Given the description of an element on the screen output the (x, y) to click on. 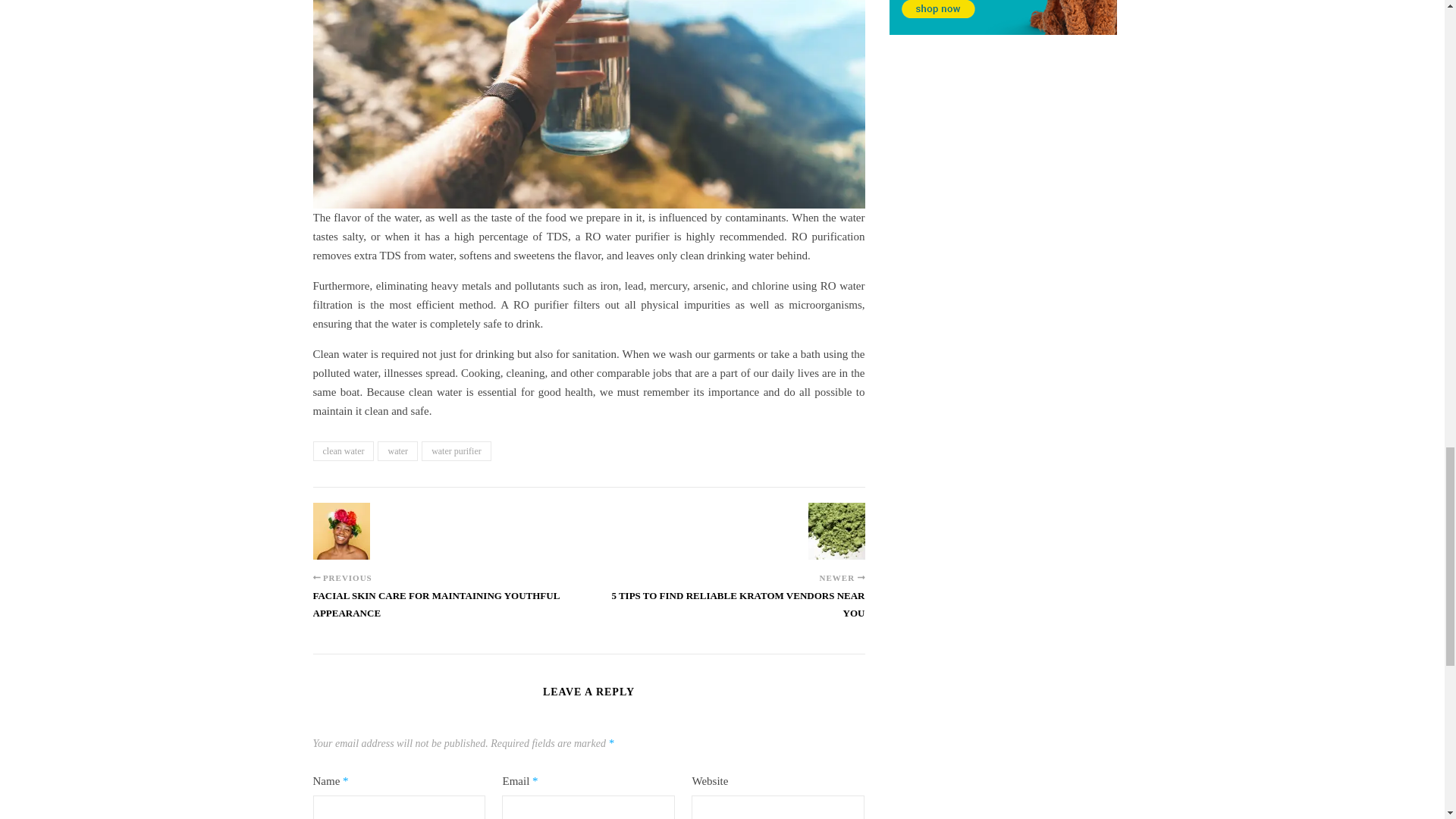
FACIAL SKIN CARE FOR MAINTAINING YOUTHFUL APPEARANCE (450, 612)
water purifier (457, 451)
Facial Skin Care For Maintaining Youthful Appearance (341, 530)
5 Tips To Find Reliable Kratom Vendors Near You (726, 612)
5 Tips To Find Reliable Kratom Vendors Near You (836, 530)
clean water (343, 451)
5 TIPS TO FIND RELIABLE KRATOM VENDORS NEAR YOU (726, 612)
Facial Skin Care For Maintaining Youthful Appearance (450, 612)
water (397, 451)
